Given the description of an element on the screen output the (x, y) to click on. 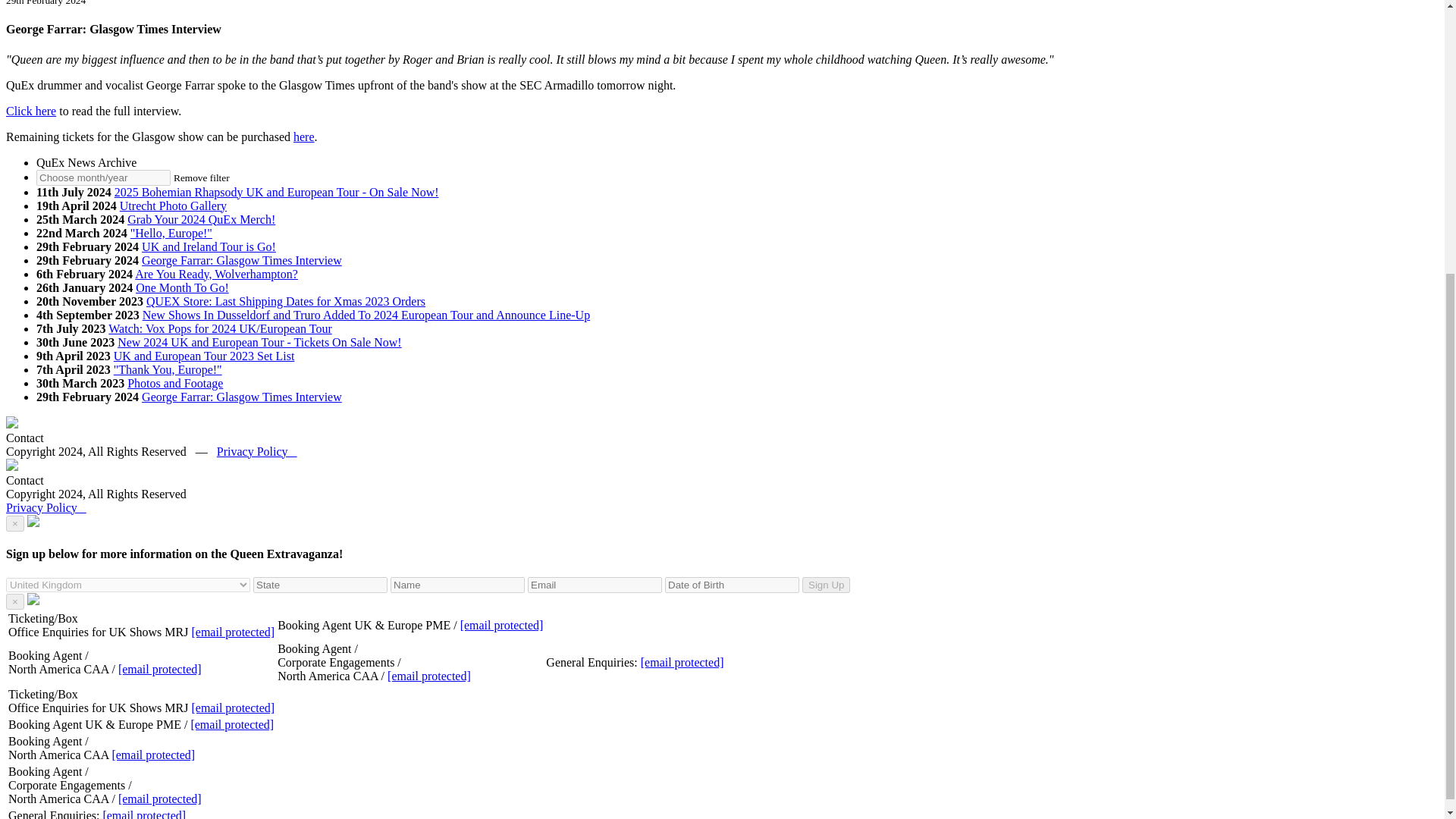
Photos and Footage (175, 382)
George Farrar: Glasgow Times Interview (241, 259)
Privacy Policy    (256, 451)
Remove filter (201, 176)
George Farrar: Glasgow Times Interview (241, 396)
"Hello, Europe!" (171, 232)
One Month To Go! (181, 287)
"Thank You, Europe!" (167, 369)
Are You Ready, Wolverhampton? (216, 273)
